Given the description of an element on the screen output the (x, y) to click on. 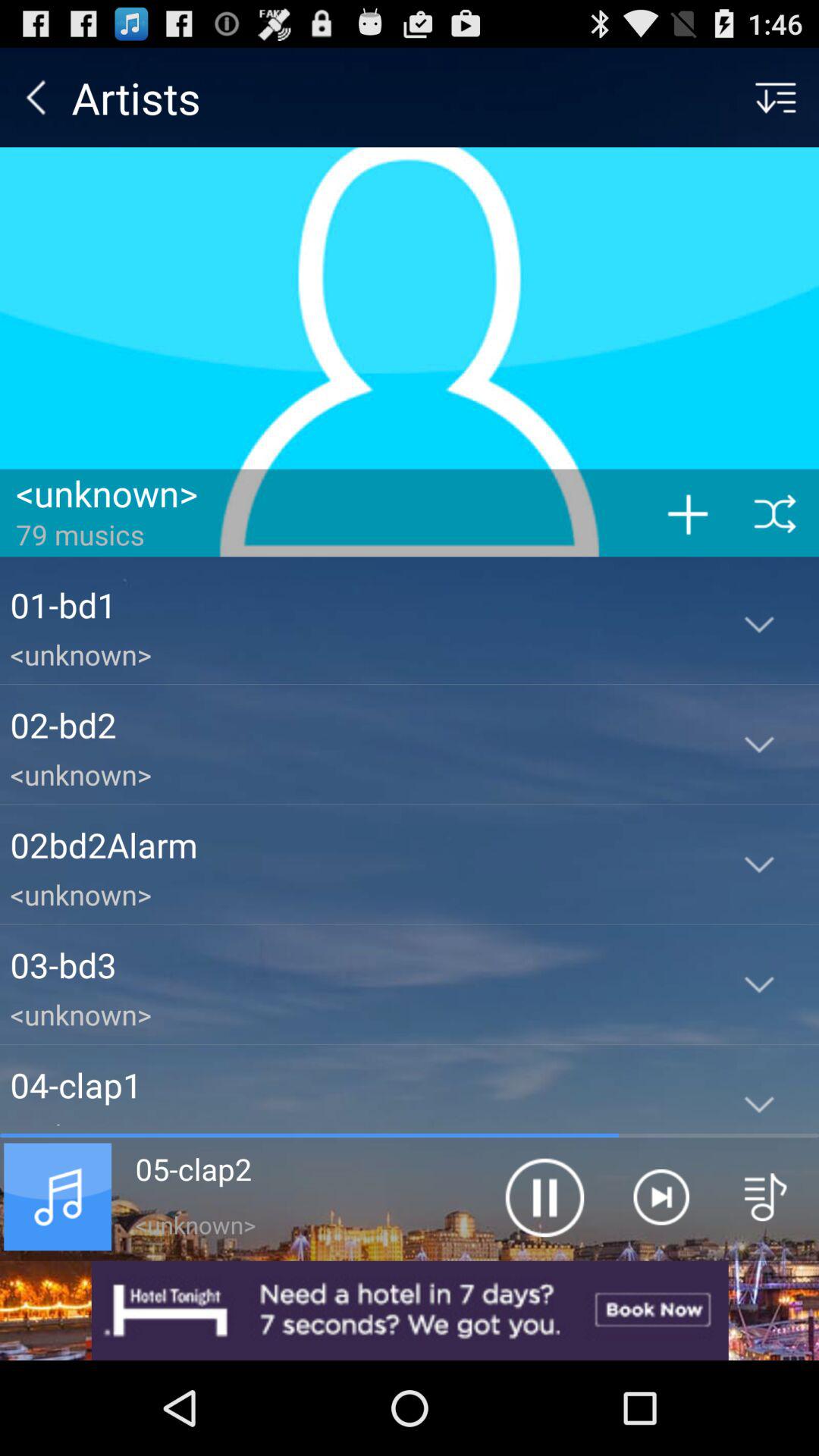
turn off the item above <unknown> item (354, 724)
